Given the description of an element on the screen output the (x, y) to click on. 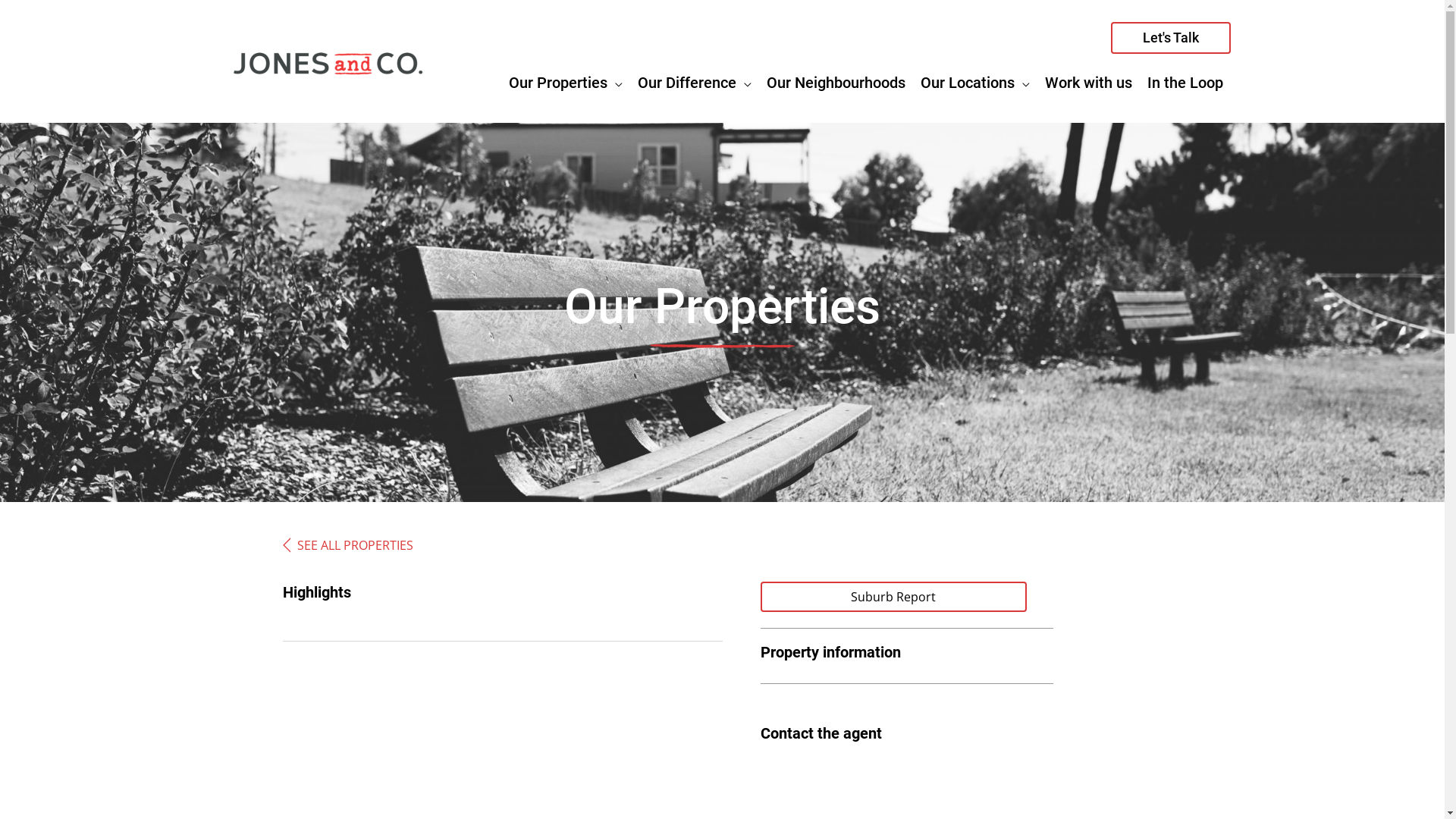
Our Neighbourhoods Element type: text (835, 82)
Let's Talk Element type: text (1170, 37)
Our Difference Element type: text (693, 82)
SEE ALL PROPERTIES Element type: text (355, 544)
Suburb Report Element type: text (892, 596)
Our Properties Element type: text (564, 82)
Our Locations Element type: text (975, 82)
Work with us Element type: text (1088, 82)
Suburb Report Element type: text (892, 596)
In the Loop Element type: text (1184, 82)
